Given the description of an element on the screen output the (x, y) to click on. 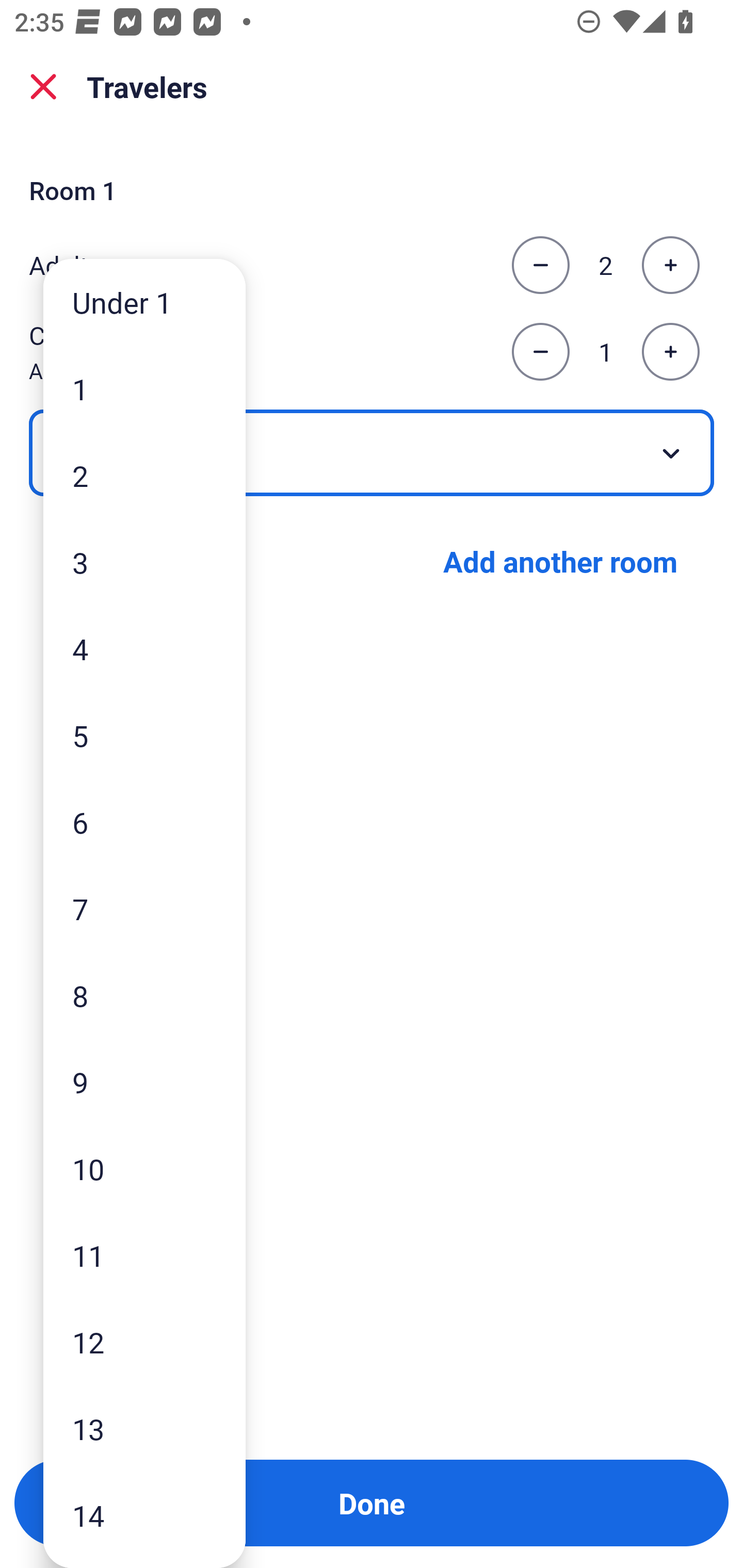
Under 1 (144, 301)
1 (144, 388)
2 (144, 475)
3 (144, 562)
4 (144, 648)
5 (144, 735)
6 (144, 822)
7 (144, 908)
8 (144, 994)
9 (144, 1081)
10 (144, 1168)
11 (144, 1255)
12 (144, 1342)
13 (144, 1429)
14 (144, 1515)
